Given the description of an element on the screen output the (x, y) to click on. 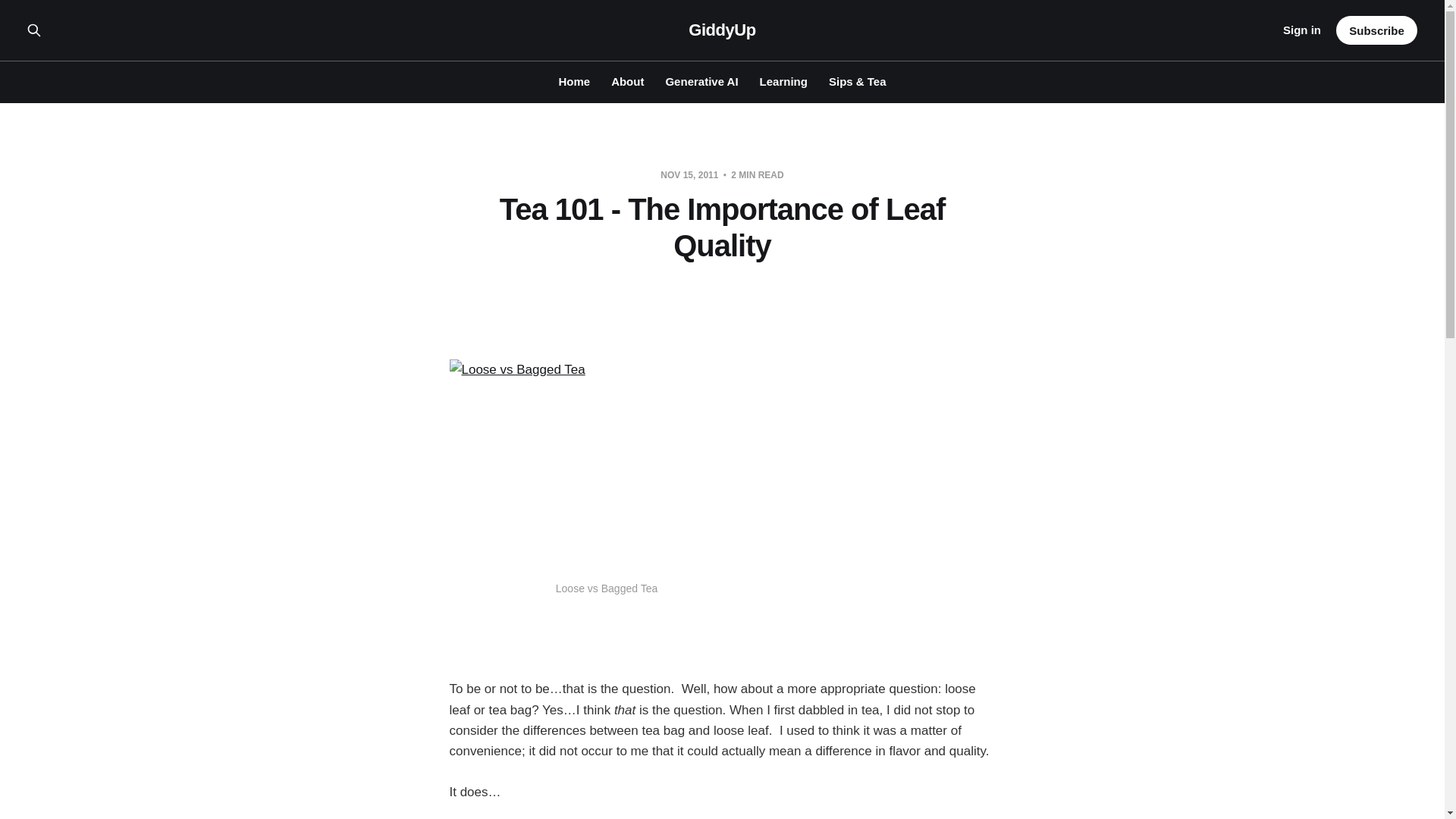
Learning (784, 81)
Subscribe (1376, 30)
About (627, 81)
Home (573, 81)
GiddyUp (721, 30)
Sign in (1301, 30)
Generative AI (701, 81)
Loose vs Bagged Tea (605, 464)
